Given the description of an element on the screen output the (x, y) to click on. 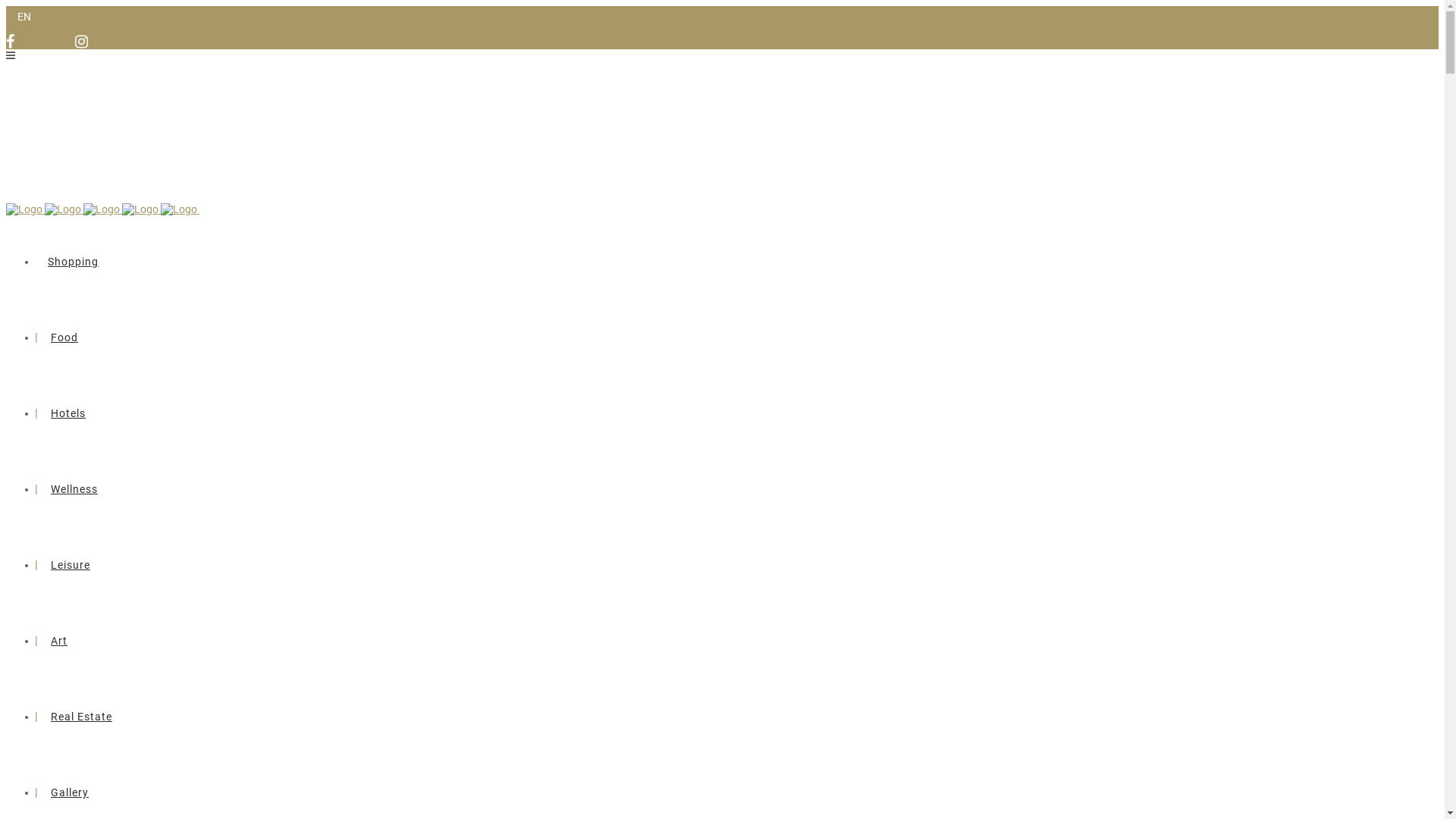
EN Element type: text (23, 15)
Leisure Element type: text (70, 564)
Food Element type: text (64, 337)
Hotels Element type: text (68, 413)
Art Element type: text (58, 640)
Gallery Element type: text (69, 792)
Shopping Element type: text (72, 261)
Real Estate Element type: text (81, 716)
Wellness Element type: text (74, 489)
